Given the description of an element on the screen output the (x, y) to click on. 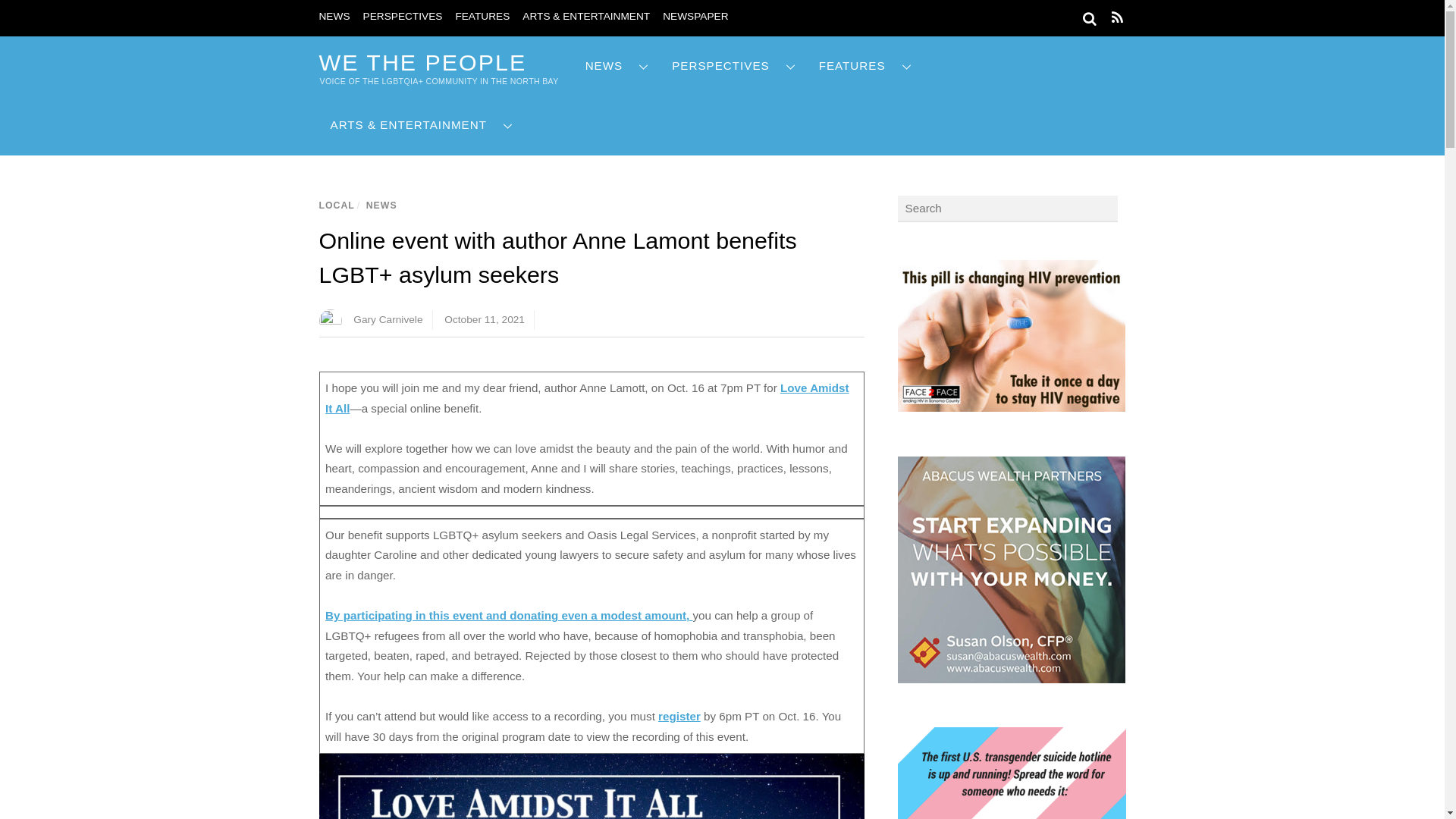
NEWS (333, 16)
NEWSPAPER (695, 16)
PERSPECTIVES (402, 16)
WE THE PEOPLE (421, 62)
We The People (421, 62)
NEWS (617, 66)
FEATURES (481, 16)
